Given the description of an element on the screen output the (x, y) to click on. 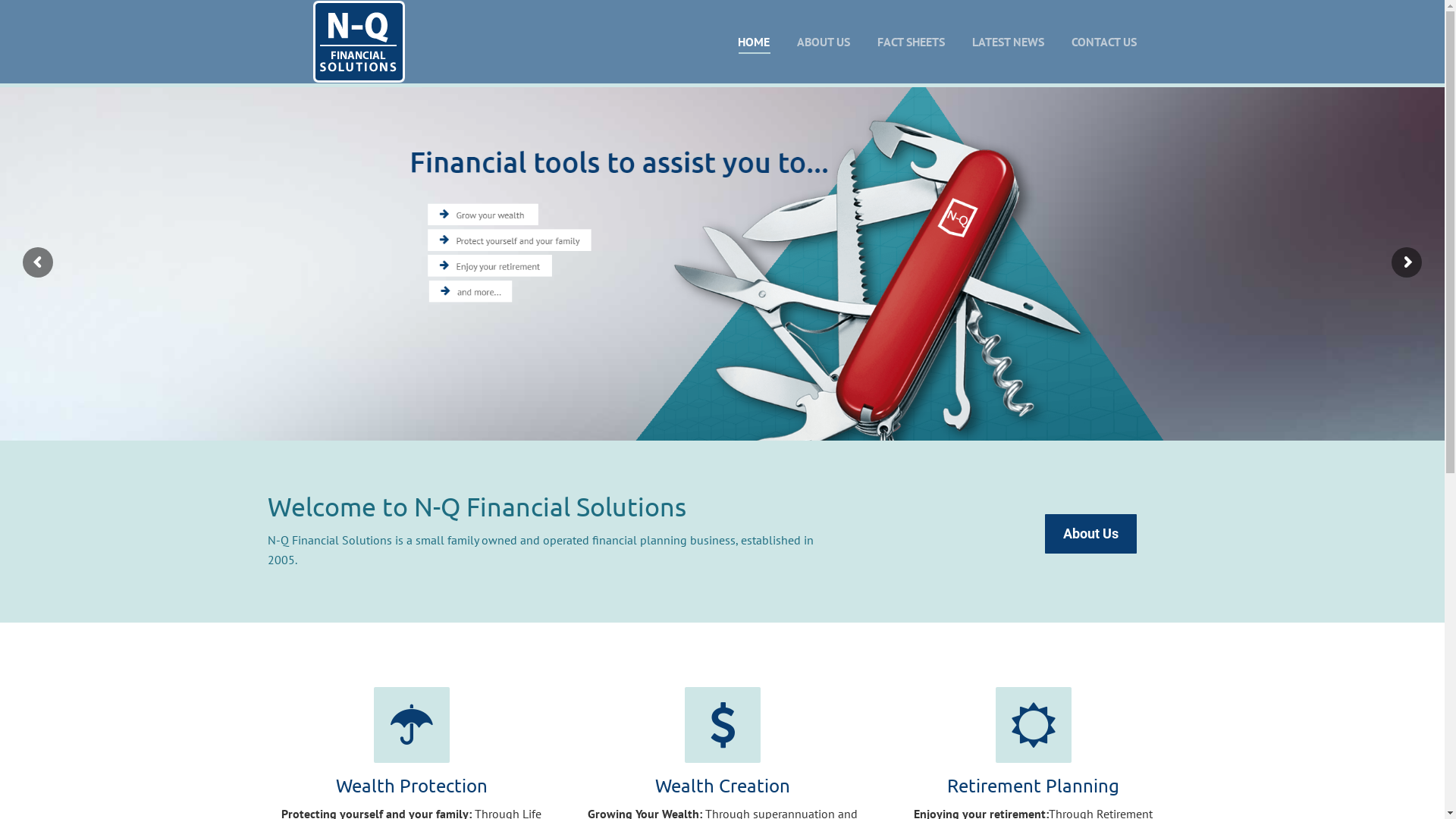
HOME Element type: text (752, 41)
ABOUT US Element type: text (822, 41)
CONTACT US Element type: text (1103, 41)
FACT SHEETS Element type: text (910, 41)
About Us Element type: text (1090, 533)
LATEST NEWS Element type: text (1008, 41)
